Given the description of an element on the screen output the (x, y) to click on. 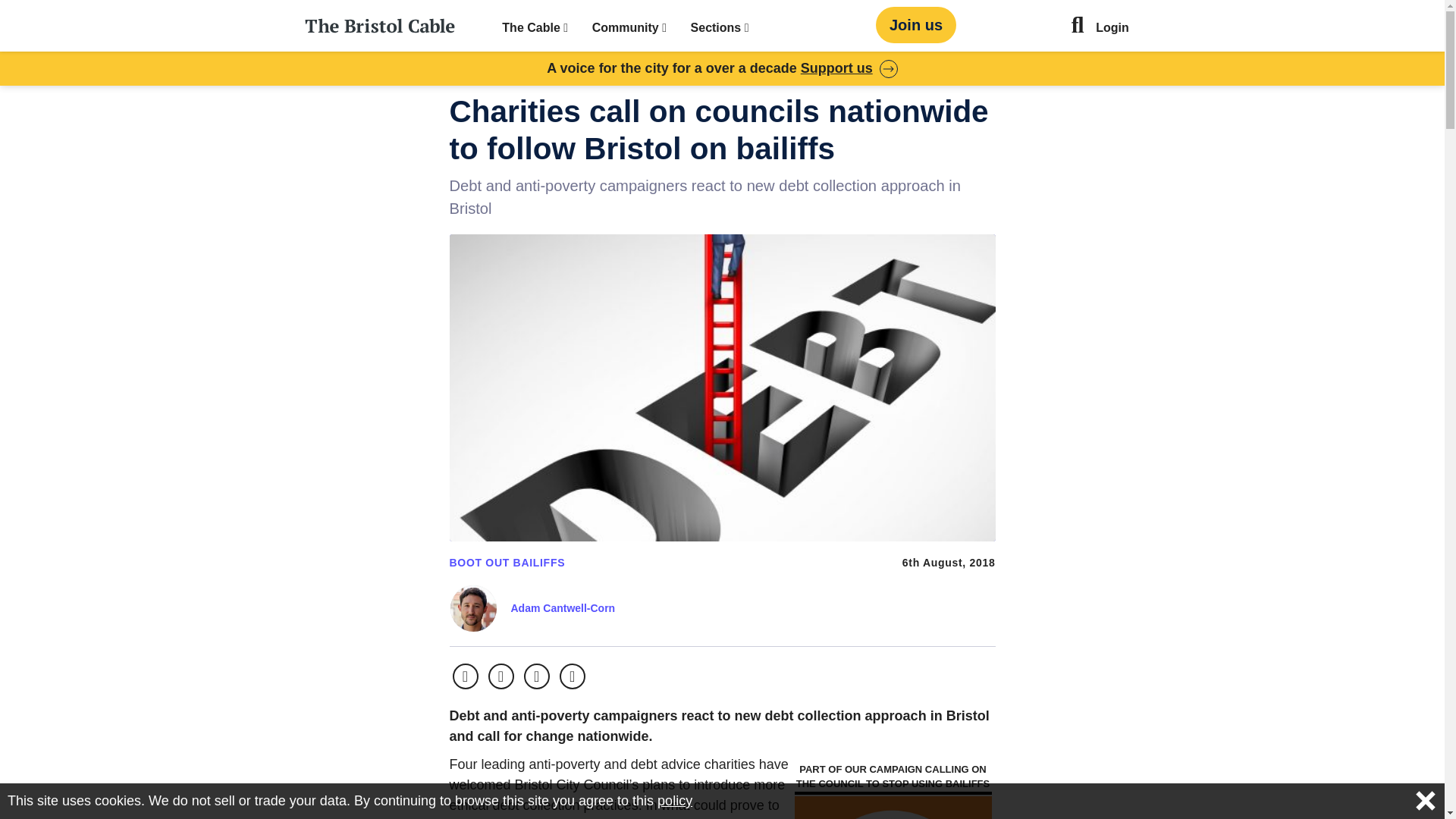
Read more from this campaign. (892, 807)
Opens in a new tab (464, 676)
BOOT OUT BAILIFFS (506, 562)
Adam Cantwell-Corn (563, 608)
Join us (916, 24)
Login (1112, 29)
Adam Cantwell-Corn (563, 608)
Opens in a new tab (537, 676)
Opens in a new tab (500, 676)
